Given the description of an element on the screen output the (x, y) to click on. 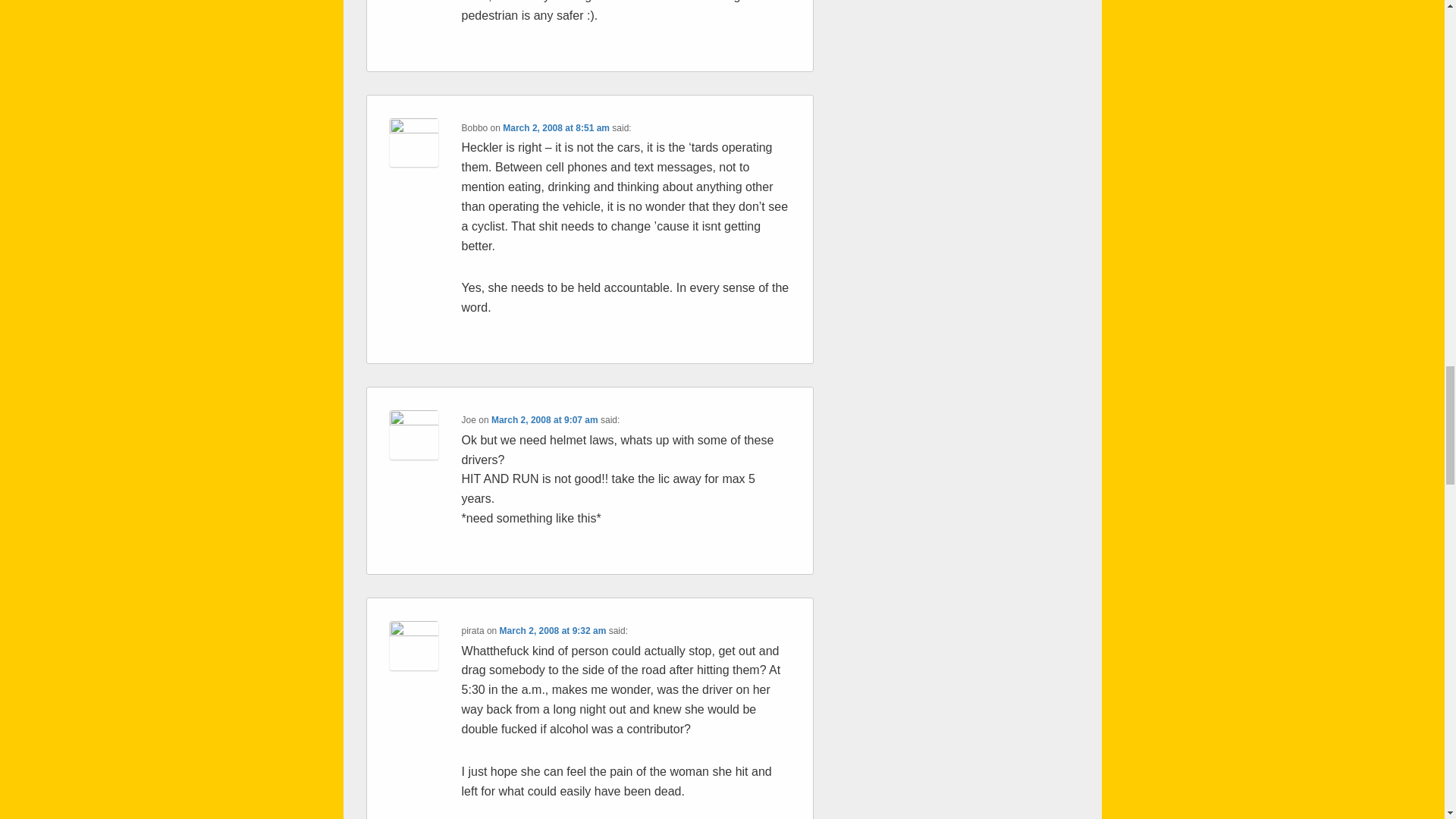
March 2, 2008 at 9:32 am (553, 630)
March 2, 2008 at 9:07 am (545, 419)
March 2, 2008 at 8:51 am (556, 127)
